Given the description of an element on the screen output the (x, y) to click on. 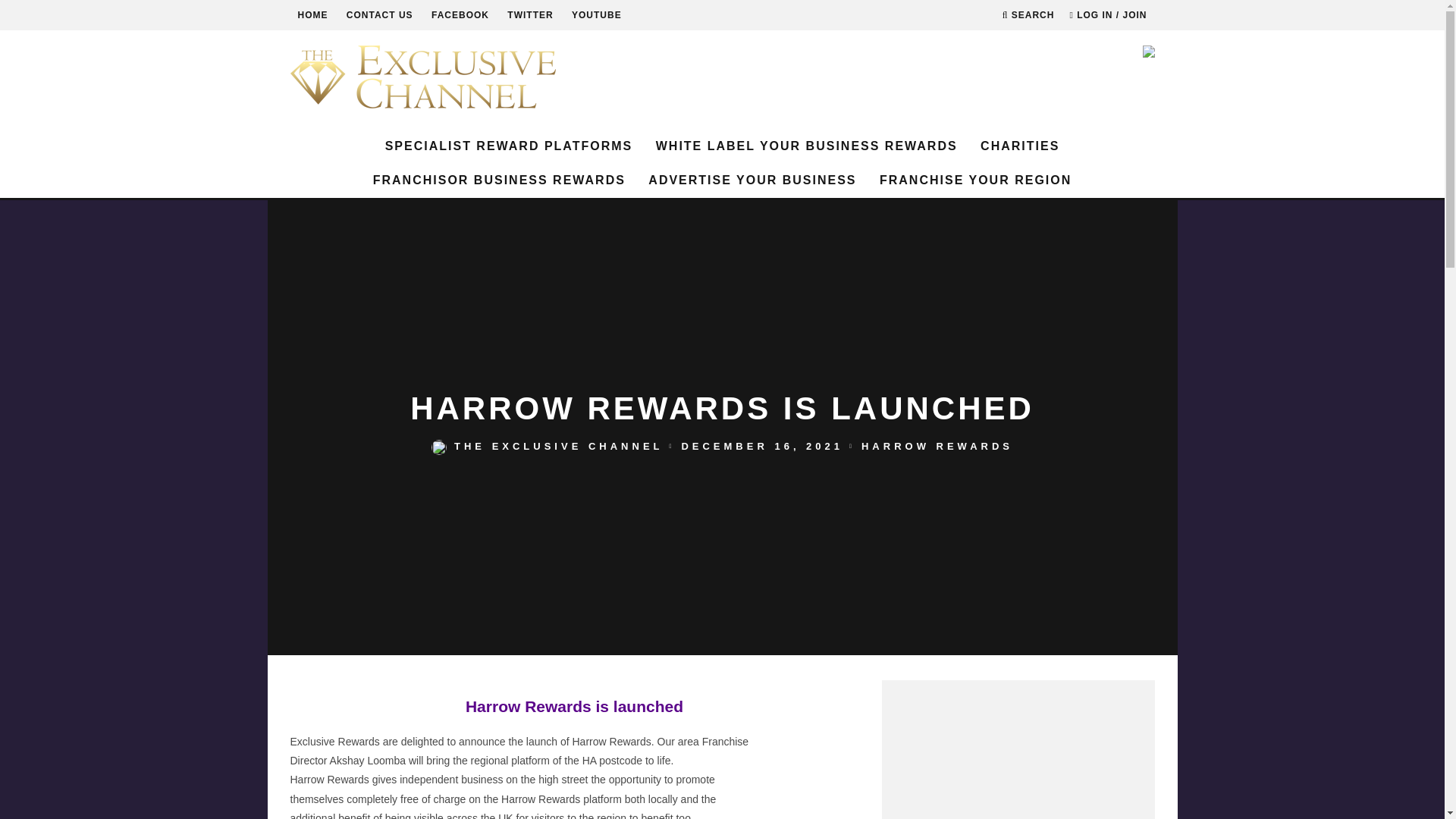
Search (1028, 15)
FACEBOOK (459, 15)
TWITTER (529, 15)
WHITE LABEL YOUR BUSINESS REWARDS (806, 146)
HOME (312, 15)
SPECIALIST REWARD PLATFORMS (508, 146)
View all posts in Harrow Rewards (937, 446)
Log In (721, 422)
SEARCH (1028, 15)
CONTACT US (379, 15)
